Given the description of an element on the screen output the (x, y) to click on. 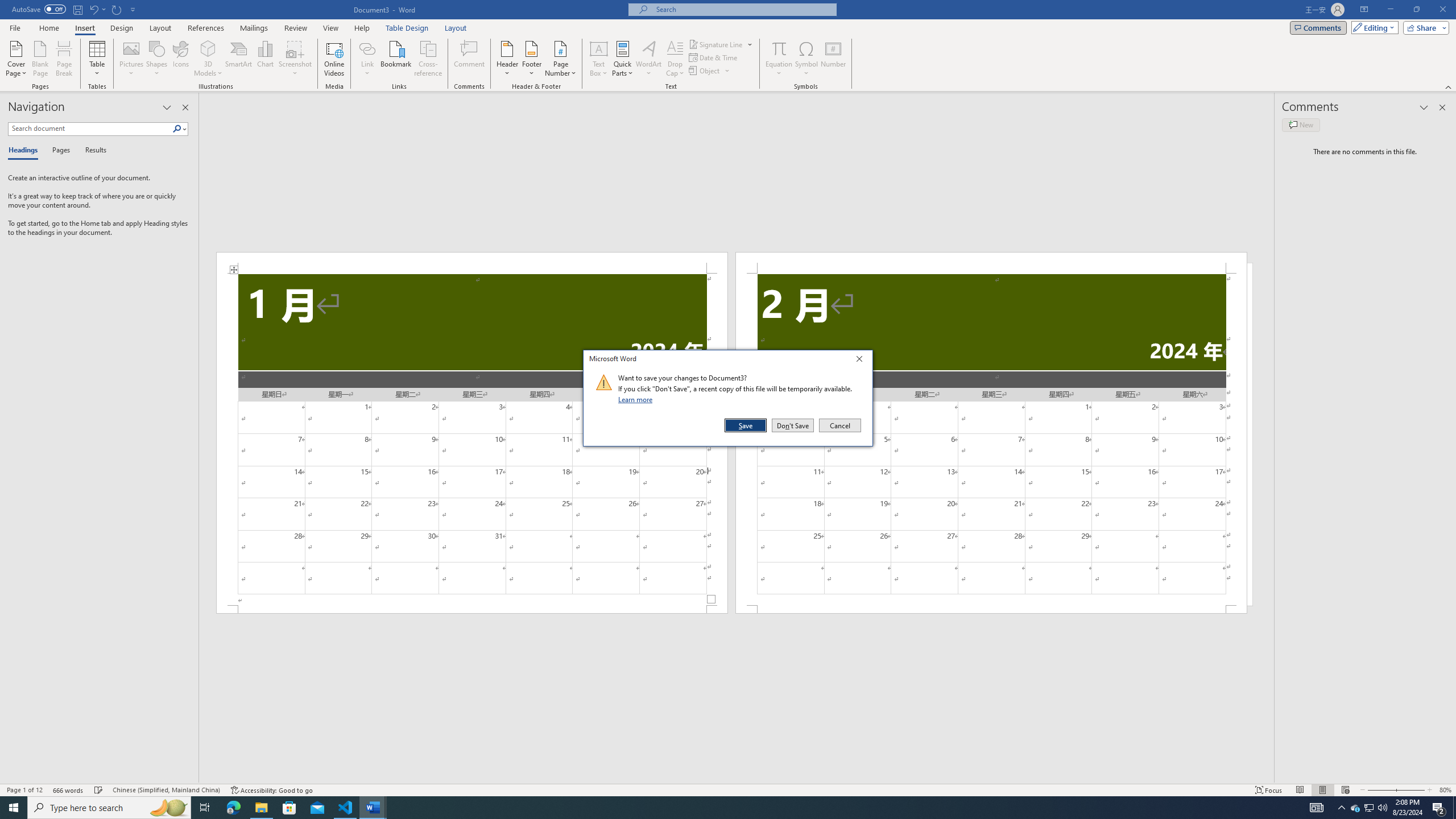
Learn more (636, 399)
SmartArt... (238, 58)
Chart... (1355, 807)
Type here to search (265, 58)
Mailings (108, 807)
Accessibility Checker Accessibility: Good to go (253, 28)
Headings (271, 790)
Header -Section 1- (25, 150)
Search (471, 263)
Table (179, 128)
Object... (97, 58)
Zoom Out (709, 69)
Equation (1378, 790)
